Given the description of an element on the screen output the (x, y) to click on. 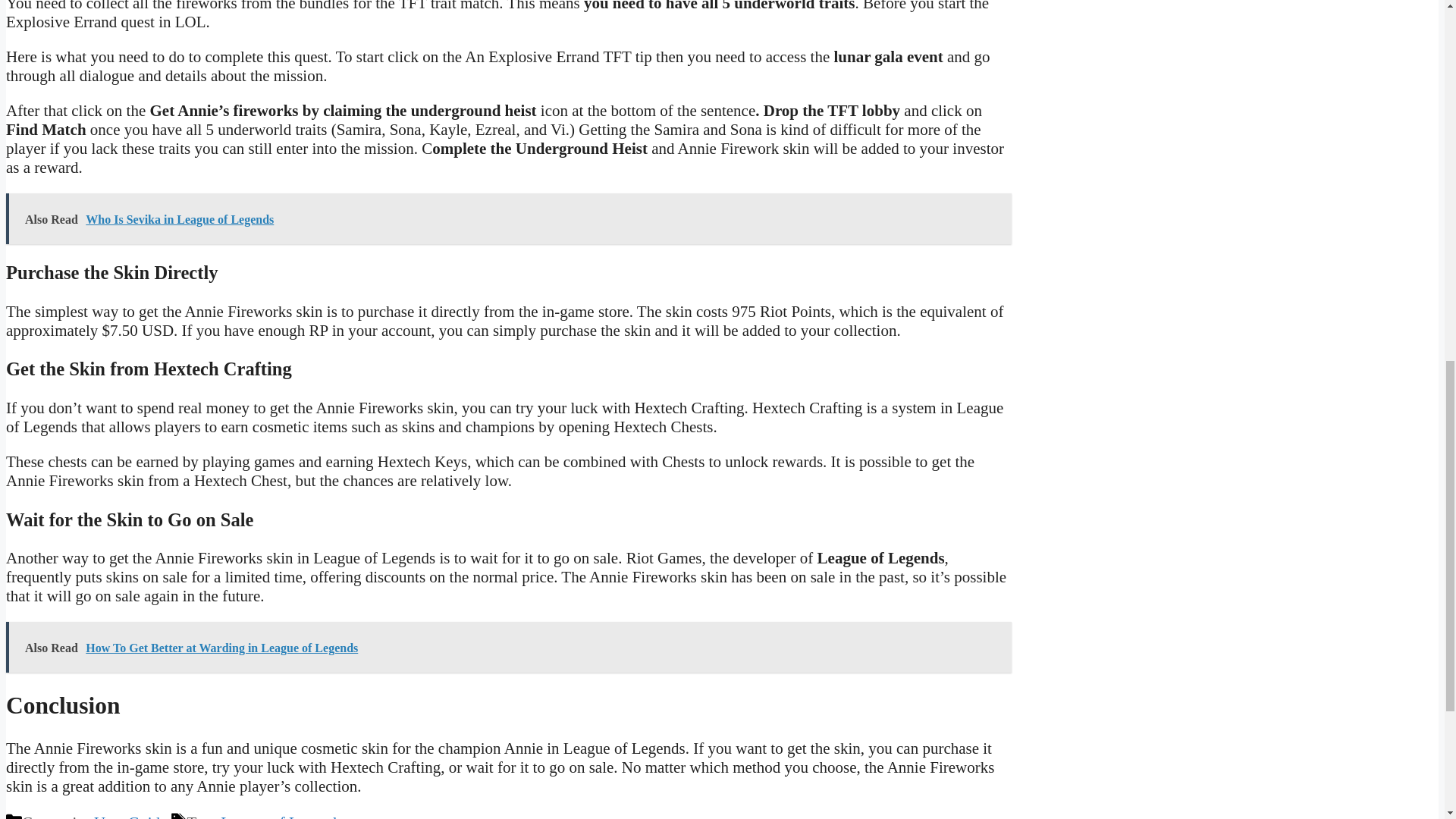
Also Read  How To Get Better at Warding in League of Legends (508, 646)
User Guide (130, 816)
League of Legends (281, 816)
Also Read  Who Is Sevika in League of Legends (508, 218)
